Given the description of an element on the screen output the (x, y) to click on. 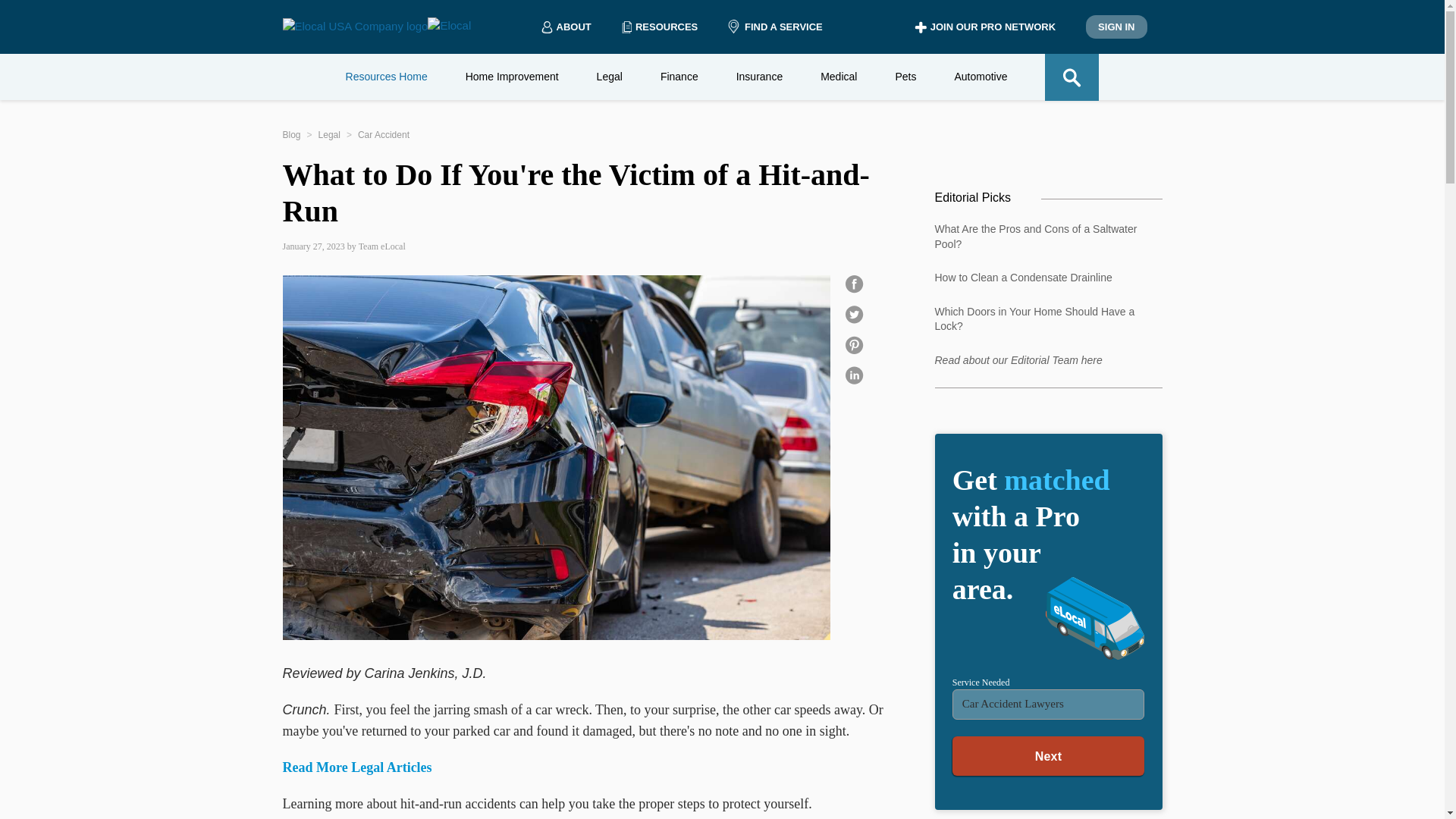
FIND A SERVICE (775, 27)
Car Accident Lawyers (1048, 704)
SIGN IN (1116, 27)
